Given the description of an element on the screen output the (x, y) to click on. 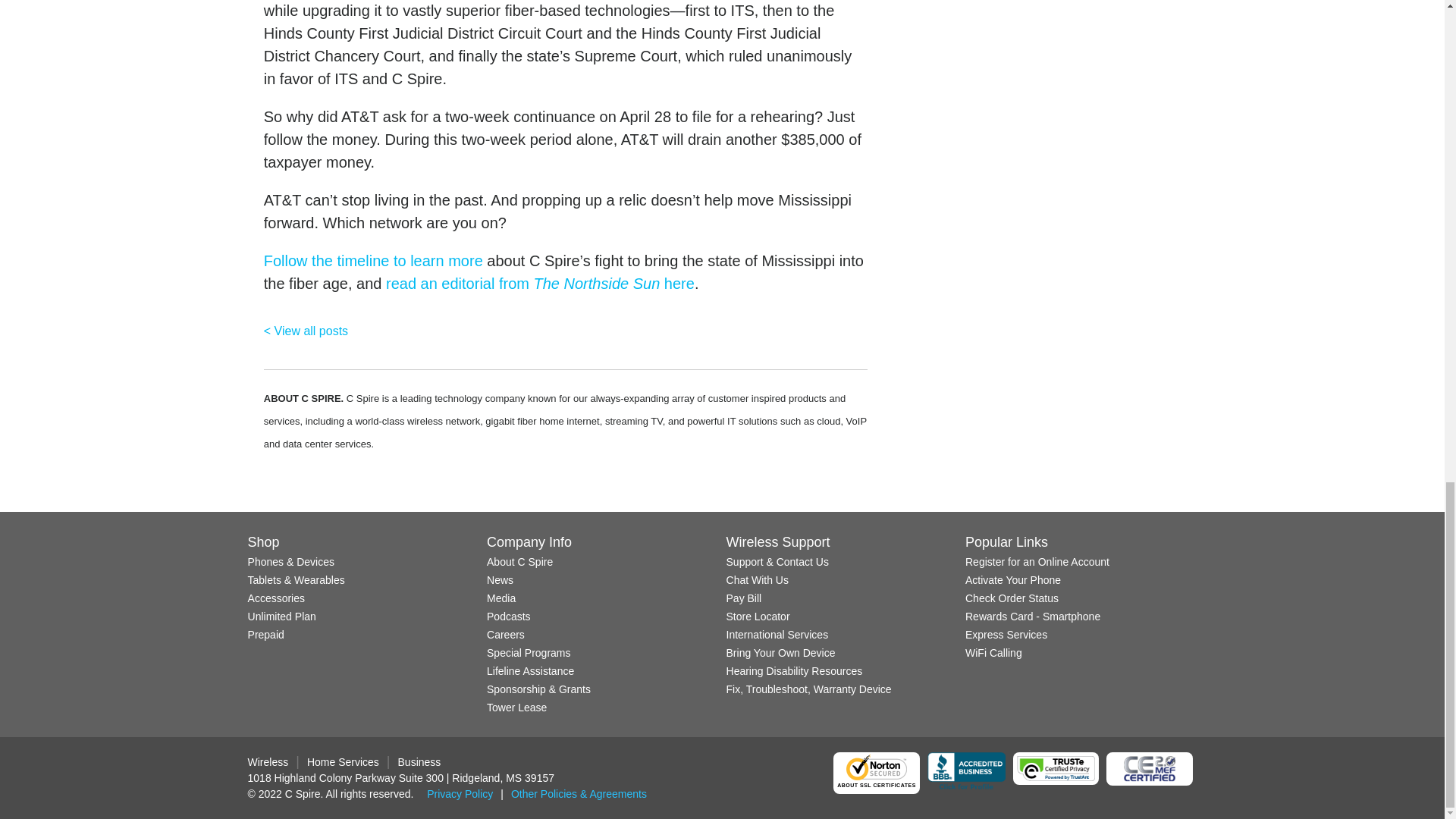
C Spire Wireless BBB Business Review (965, 771)
MEF Certification (1149, 768)
